Given the description of an element on the screen output the (x, y) to click on. 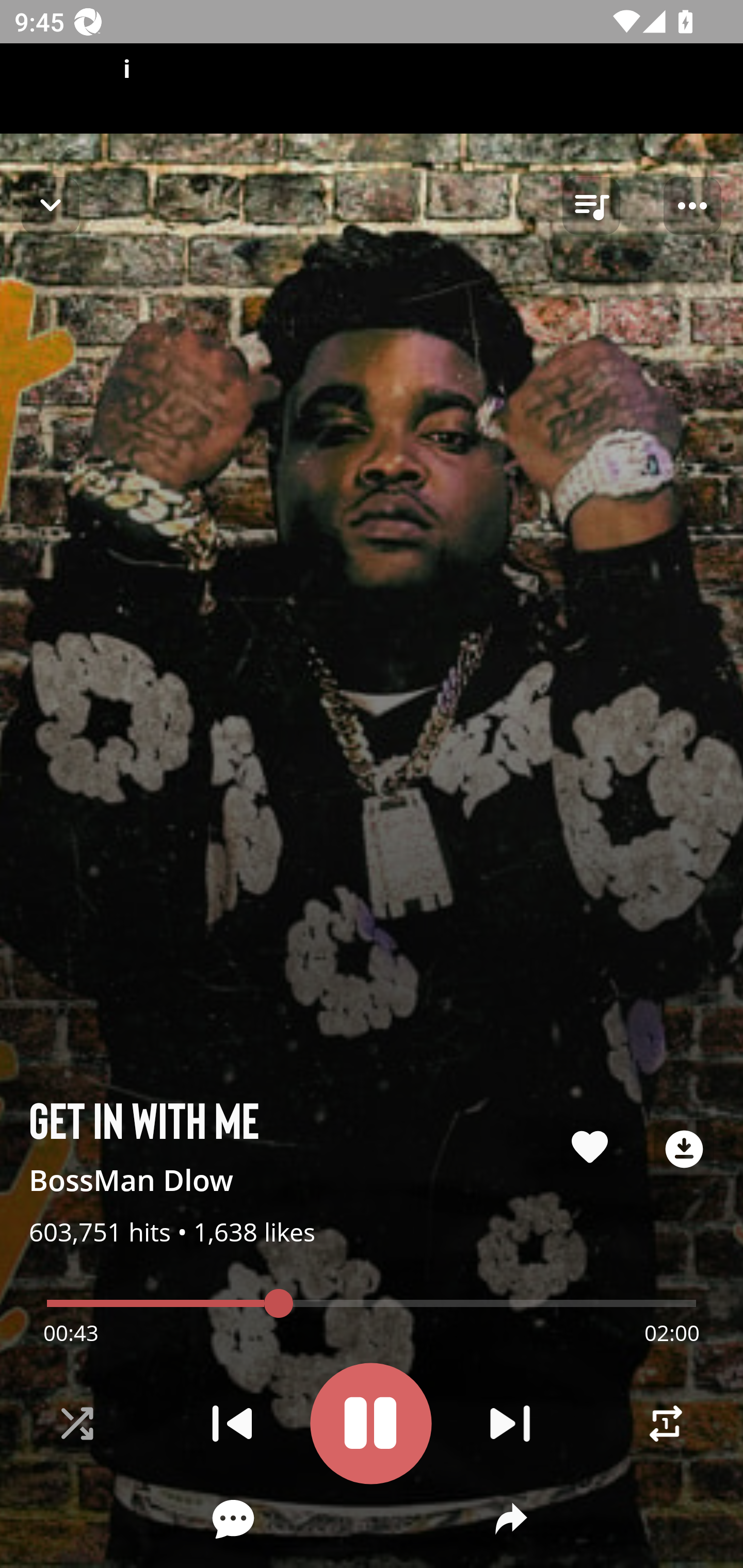
Navigate up (50, 205)
queue (590, 206)
Player options (692, 206)
